Given the description of an element on the screen output the (x, y) to click on. 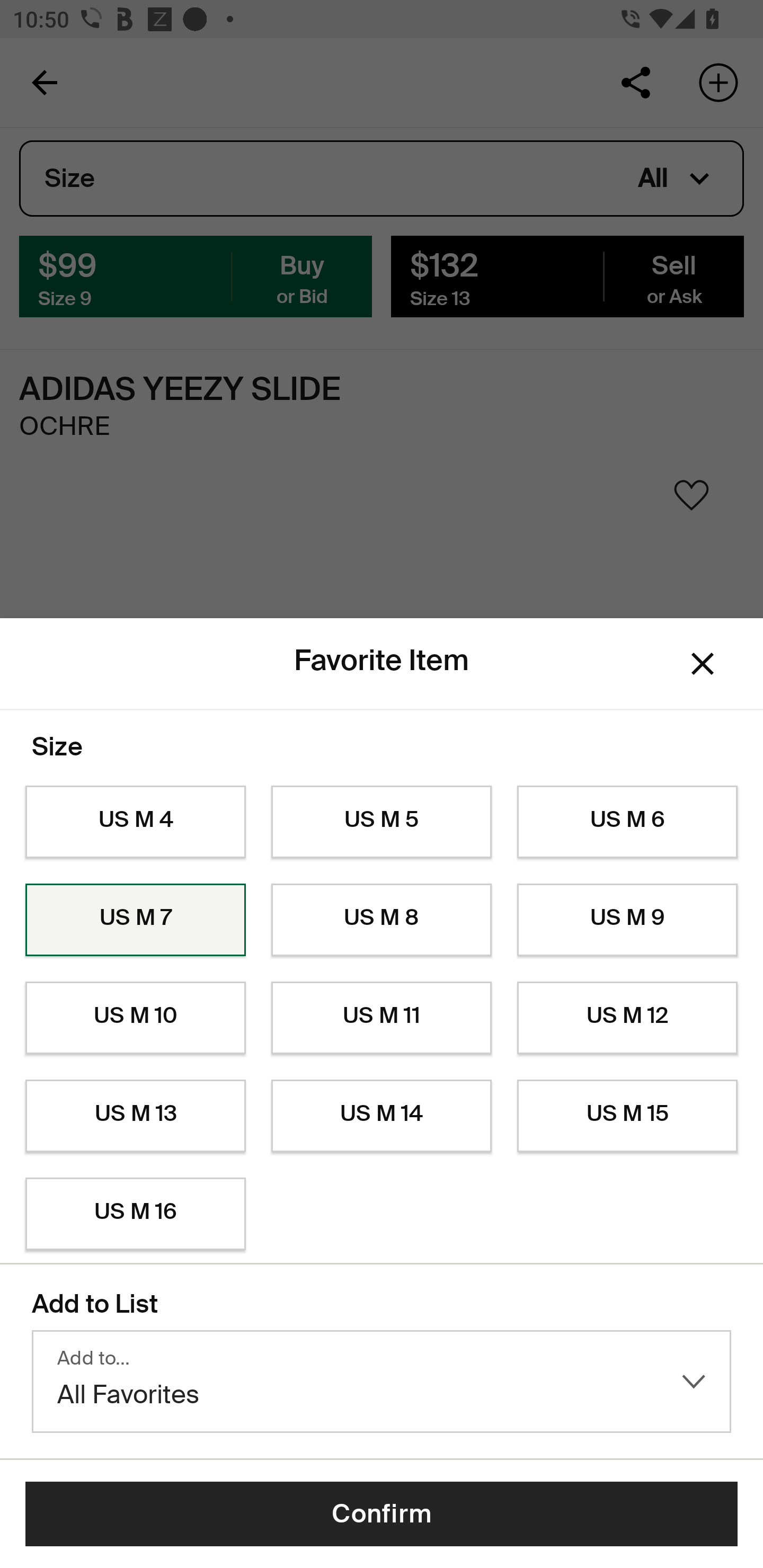
Dismiss (702, 663)
US M 4 (135, 822)
US M 5 (381, 822)
US M 6 (627, 822)
US M 7 (135, 919)
US M 8 (381, 919)
US M 9 (627, 919)
US M 10 (135, 1018)
US M 11 (381, 1018)
US M 12 (627, 1018)
US M 13 (135, 1116)
US M 14 (381, 1116)
US M 15 (627, 1116)
US M 16 (135, 1214)
Add to… All Favorites (381, 1381)
Confirm (381, 1513)
